Given the description of an element on the screen output the (x, y) to click on. 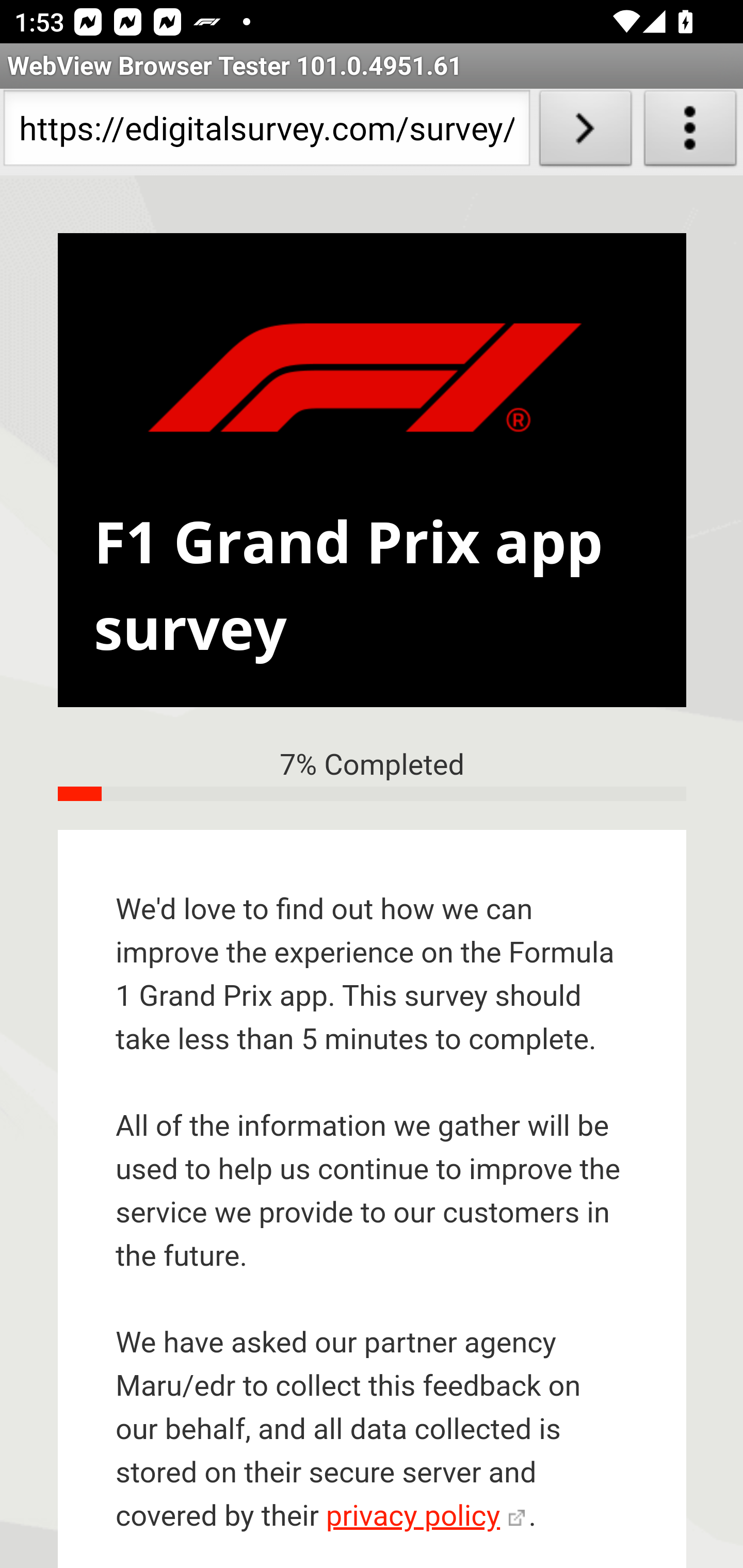
Load URL (585, 132)
About WebView (690, 132)
privacy policy  privacy policy    (425, 1517)
